Given the description of an element on the screen output the (x, y) to click on. 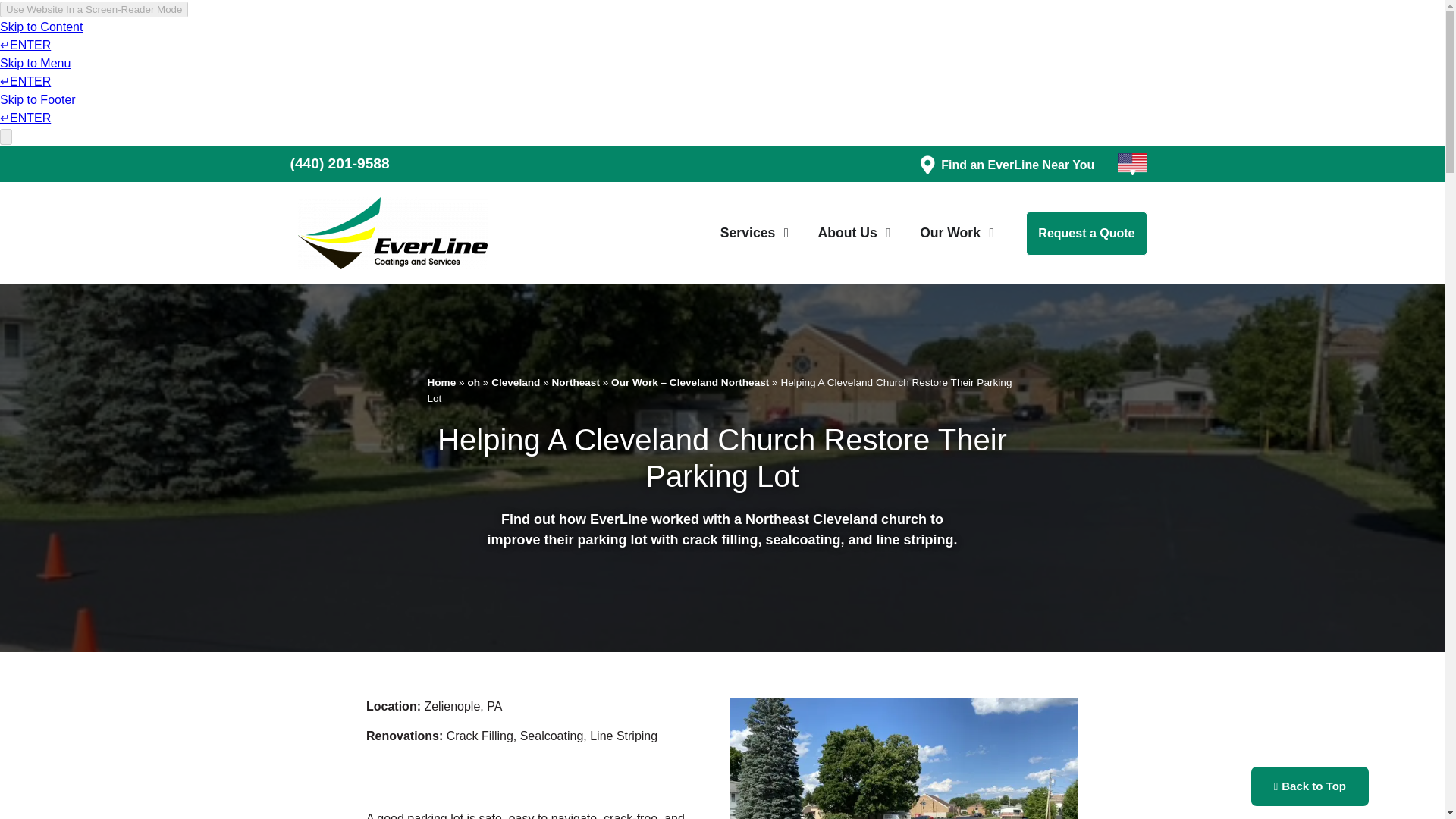
Find an EverLine Near You (1017, 164)
